Given the description of an element on the screen output the (x, y) to click on. 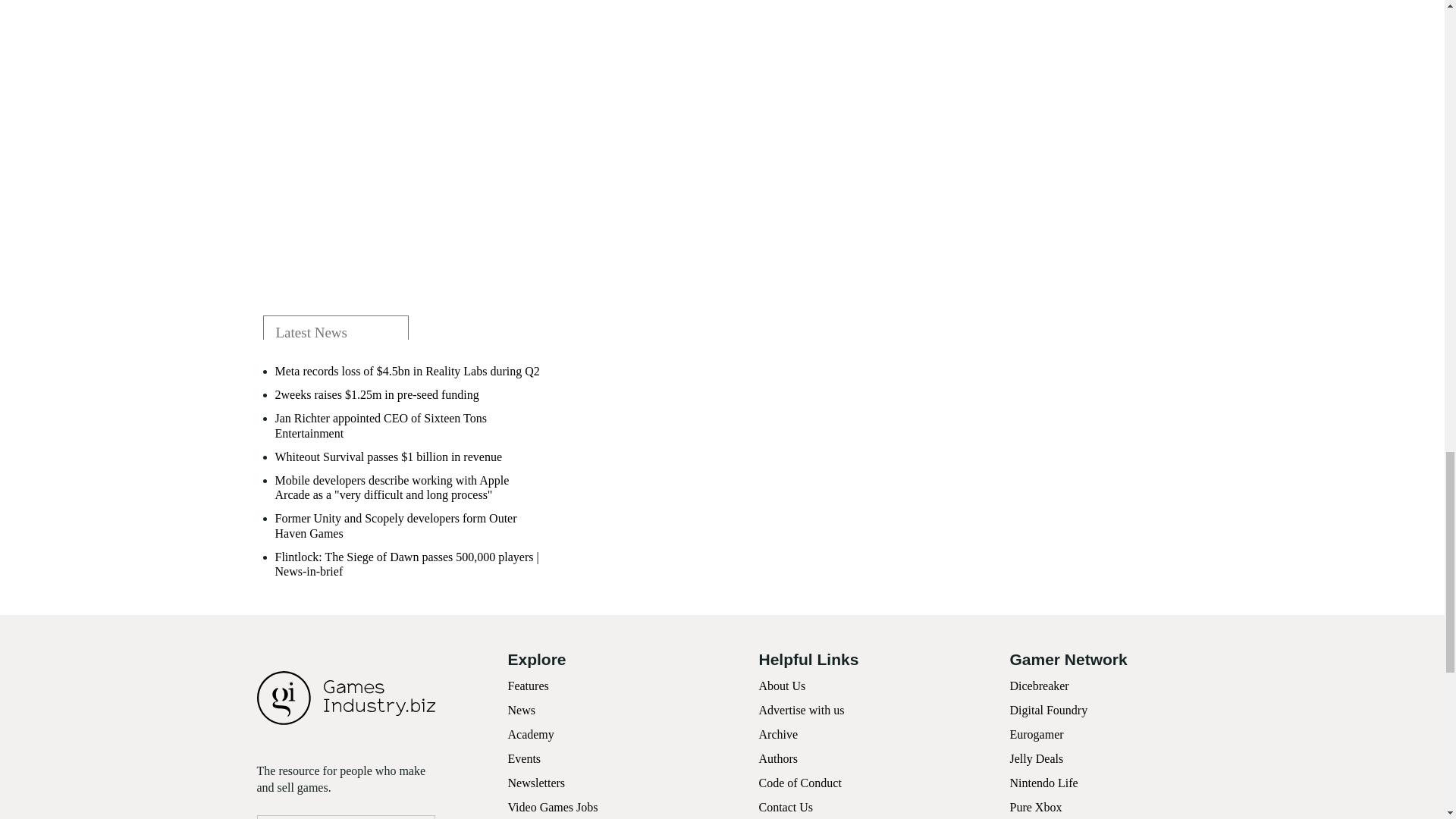
Former Unity and Scopely developers form Outer Haven Games (409, 525)
Advertise with us (801, 709)
Features (528, 685)
Video Games Jobs (553, 807)
News (521, 709)
Newsletters (537, 782)
Academy (531, 734)
About Us (781, 685)
Events (524, 758)
Jan Richter appointed CEO of Sixteen Tons Entertainment (409, 425)
